Given the description of an element on the screen output the (x, y) to click on. 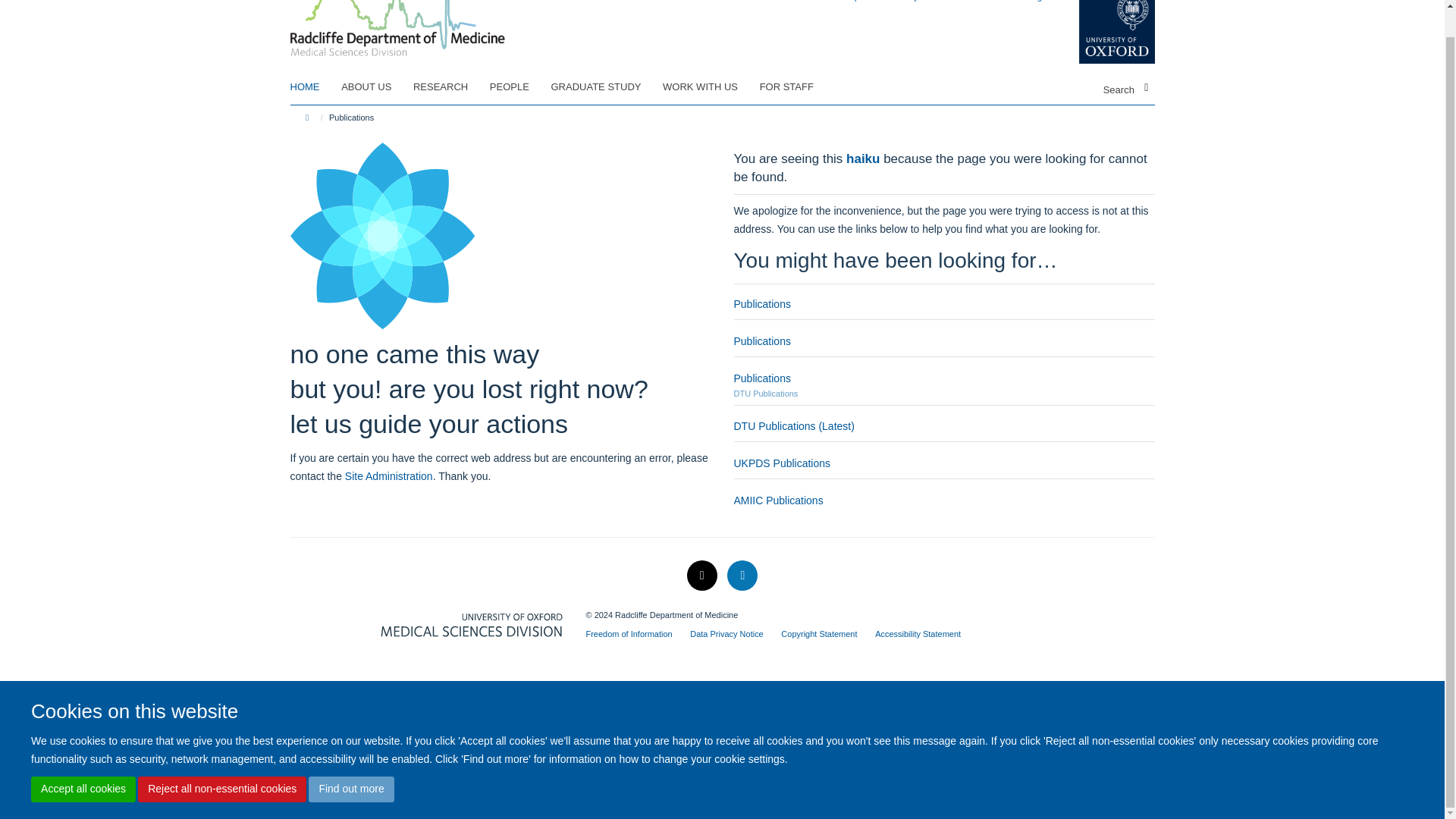
Find out more (350, 761)
FOR STAFF (796, 87)
Accept all cookies (82, 761)
GRADUATE STUDY (604, 87)
Log in (1039, 0)
WORK WITH US (709, 87)
ABOUT US (375, 87)
Publications (761, 340)
PEOPLE (518, 87)
Radcliffe Department of Medicine (397, 12)
